Given the description of an element on the screen output the (x, y) to click on. 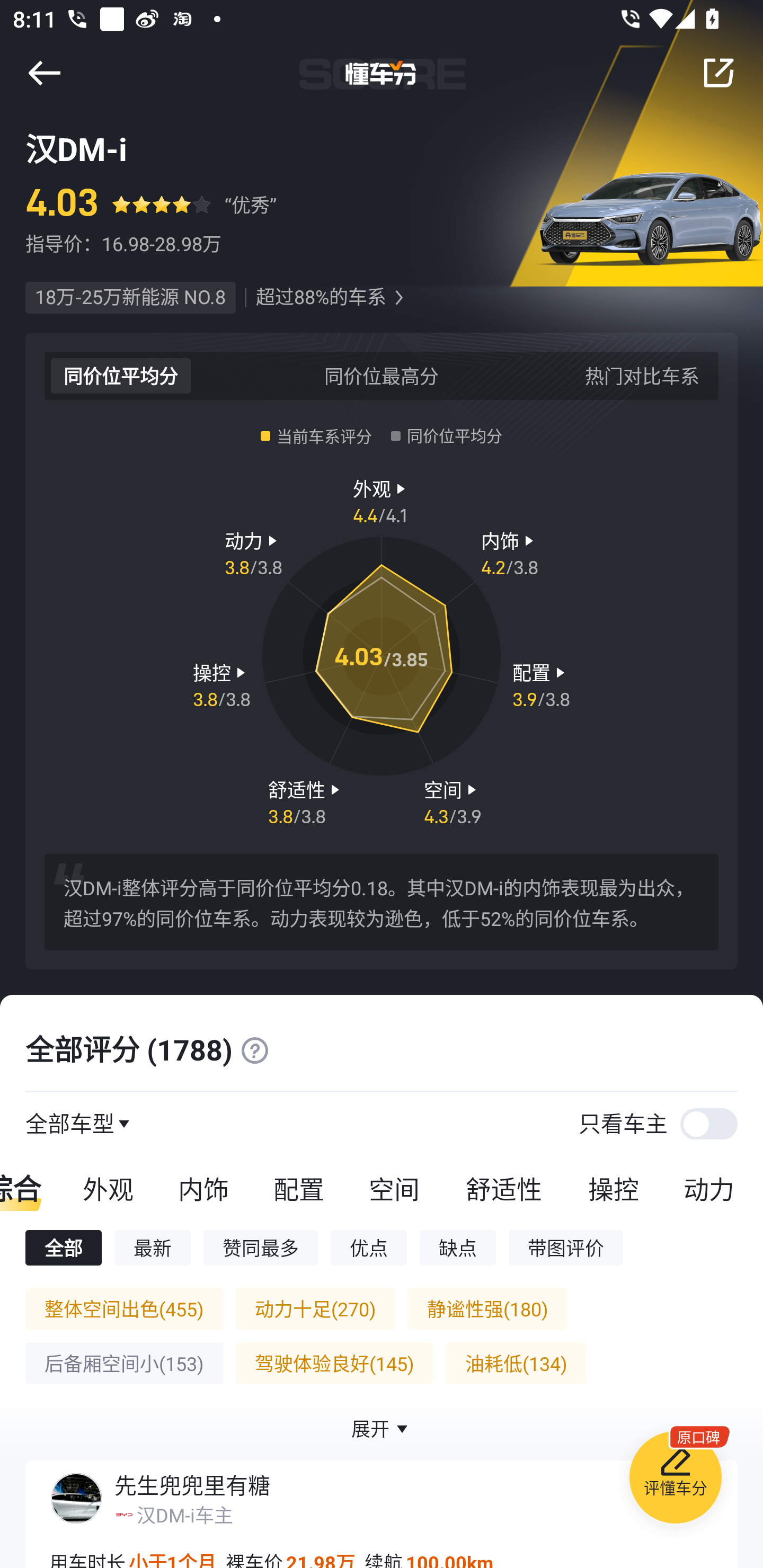
 (44, 72)
 (718, 72)
超过88%的车系 (320, 297)
 (398, 297)
同价位平均分 (120, 375)
同价位最高分 (381, 375)
热门对比车系 (641, 375)
外观  4.4 / 4.1 (381, 500)
动力  3.8 / 3.8 (253, 552)
内饰  4.2 / 3.8 (509, 552)
操控  3.8 / 3.8 (221, 685)
配置  3.9 / 3.8 (540, 685)
舒适性  3.8 / 3.8 (305, 801)
空间  4.3 / 3.9 (452, 801)
 (254, 1050)
全部车型 (69, 1123)
外观 (107, 1188)
内饰 (203, 1188)
配置 (298, 1188)
空间 (393, 1188)
舒适性 (503, 1188)
操控 (613, 1188)
动力 (712, 1188)
全部 (63, 1247)
最新 (152, 1247)
赞同最多 (260, 1247)
优点 (368, 1247)
缺点 (457, 1247)
带图评价 (565, 1247)
整体空间出色(455) (123, 1308)
动力十足(270) (315, 1308)
静谧性强(180) (487, 1308)
后备厢空间小(153) (123, 1363)
驾驶体验良好(145) (334, 1363)
油耗低(134) (516, 1363)
展开  (381, 1428)
 评懂车分 原口碑 (675, 1480)
先生兜兜里有糖 (192, 1485)
汉DM-i车主 (184, 1514)
